Given the description of an element on the screen output the (x, y) to click on. 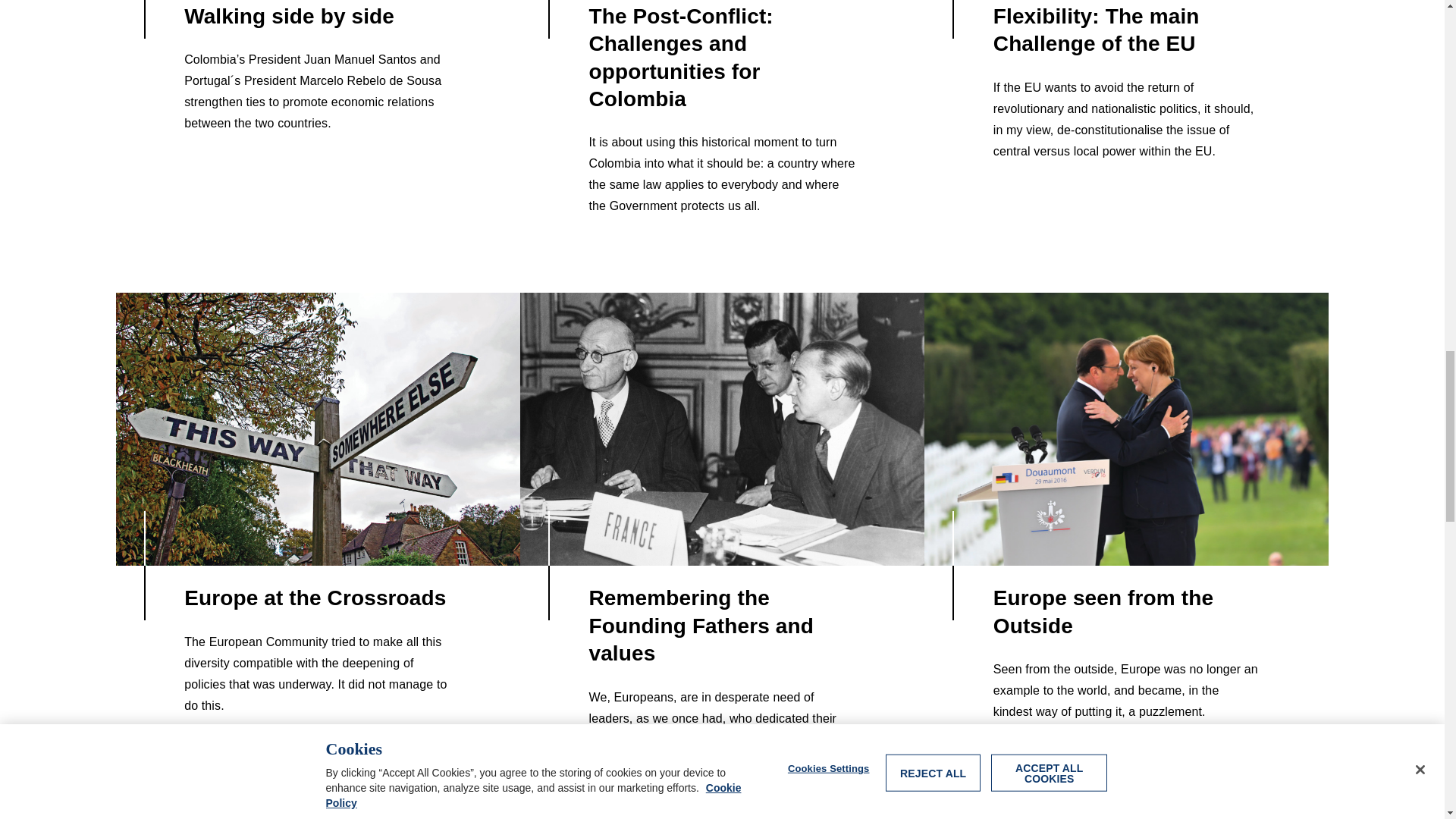
Europe seen from the Outside (1125, 428)
Europe at the Crossroads (317, 428)
Remembering the Founding Fathers and values (721, 428)
